Given the description of an element on the screen output the (x, y) to click on. 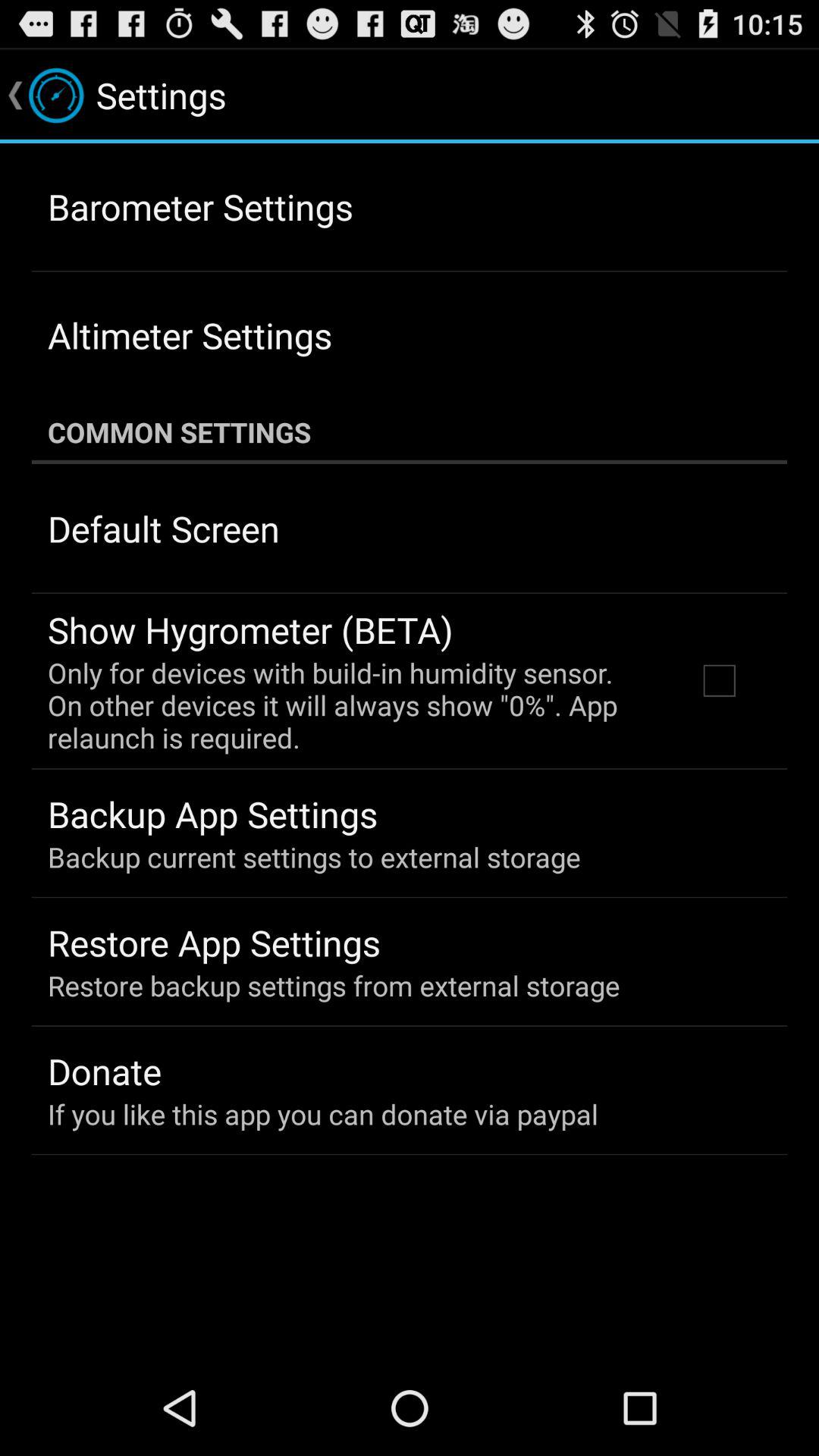
click the icon below barometer settings icon (189, 335)
